Given the description of an element on the screen output the (x, y) to click on. 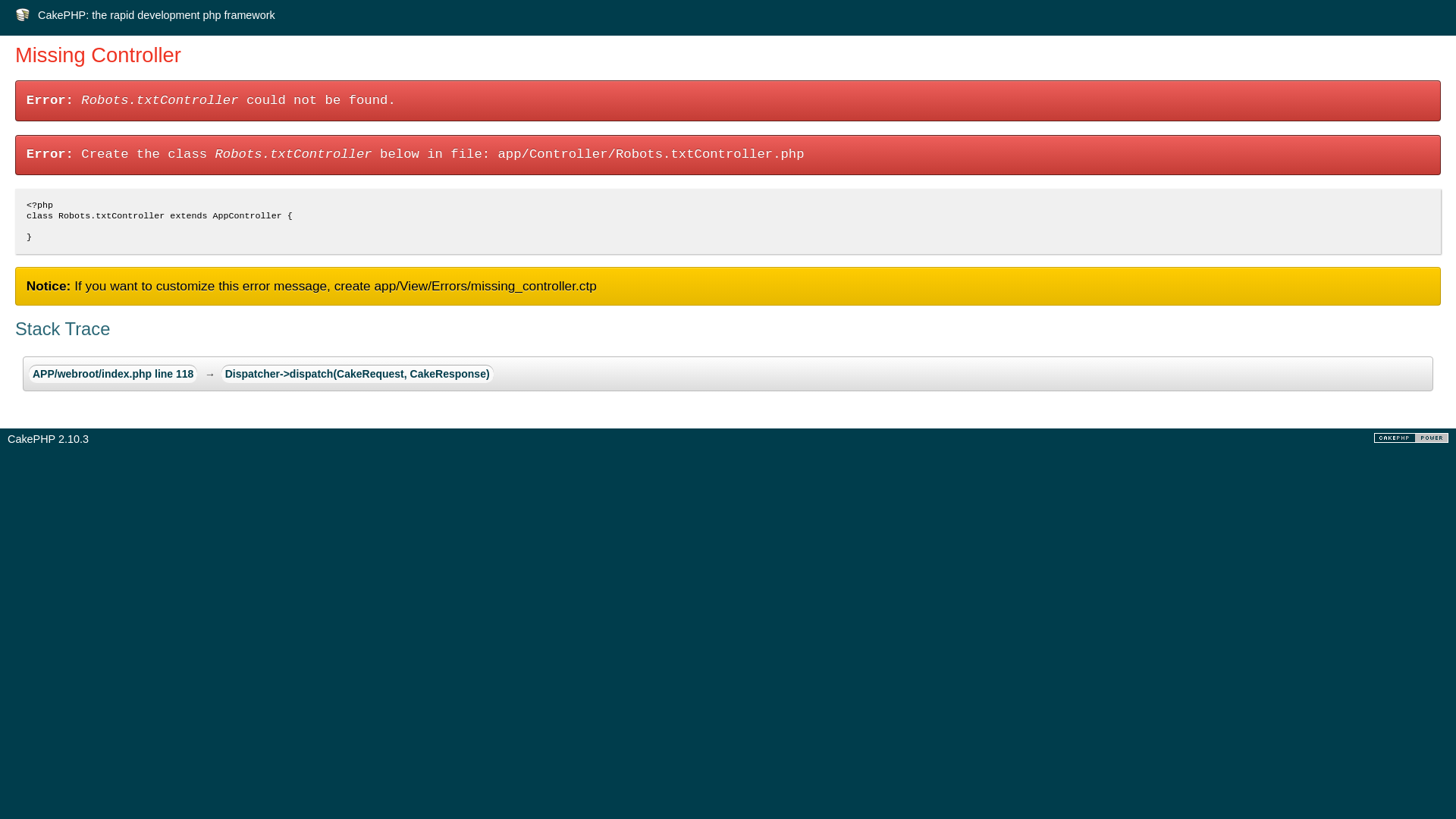
Dispatcher->dispatch(CakeRequest, CakeResponse) Element type: text (357, 373)
CakePHP: the rapid development php framework Element type: text (156, 15)
APP/webroot/index.php line 118 Element type: text (112, 373)
